Given the description of an element on the screen output the (x, y) to click on. 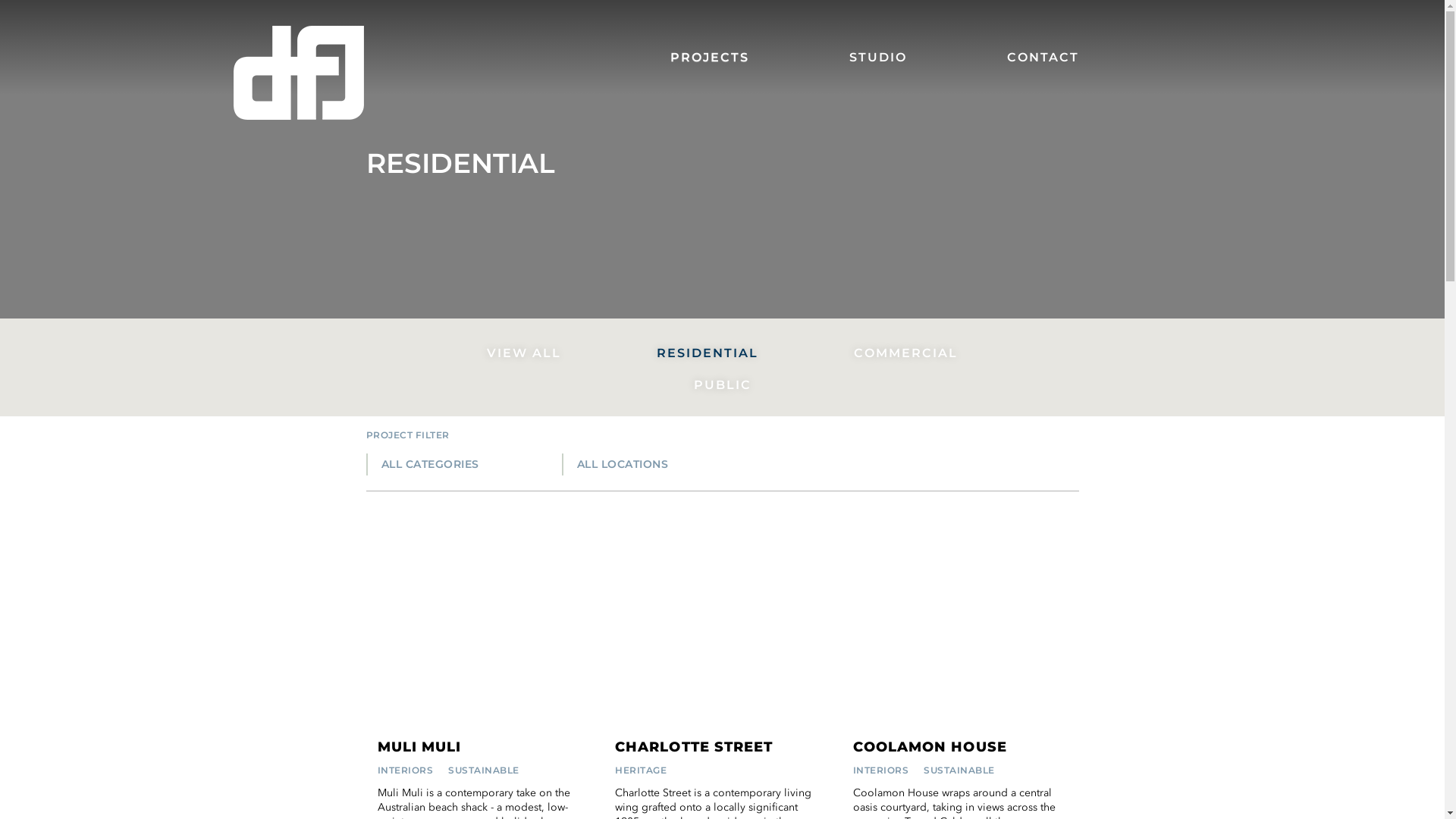
SUSTAINABLE Element type: text (483, 769)
INTERIORS Element type: text (881, 769)
RESIDENTIAL Element type: text (707, 353)
INTERIORS Element type: text (405, 769)
 STUDIO Element type: text (874, 57)
 PROJECTS Element type: text (706, 57)
HERITAGE Element type: text (640, 769)
 CONTACT Element type: text (1015, 57)
COMMERCIAL Element type: text (905, 353)
DFJ Architects Element type: hover (298, 72)
CHARLOTTE STREET Element type: text (693, 747)
VIEW ALL Element type: text (523, 353)
SUSTAINABLE Element type: text (958, 769)
MULI MULI Element type: text (419, 747)
PUBLIC Element type: text (722, 385)
COOLAMON HOUSE Element type: text (930, 747)
